Given the description of an element on the screen output the (x, y) to click on. 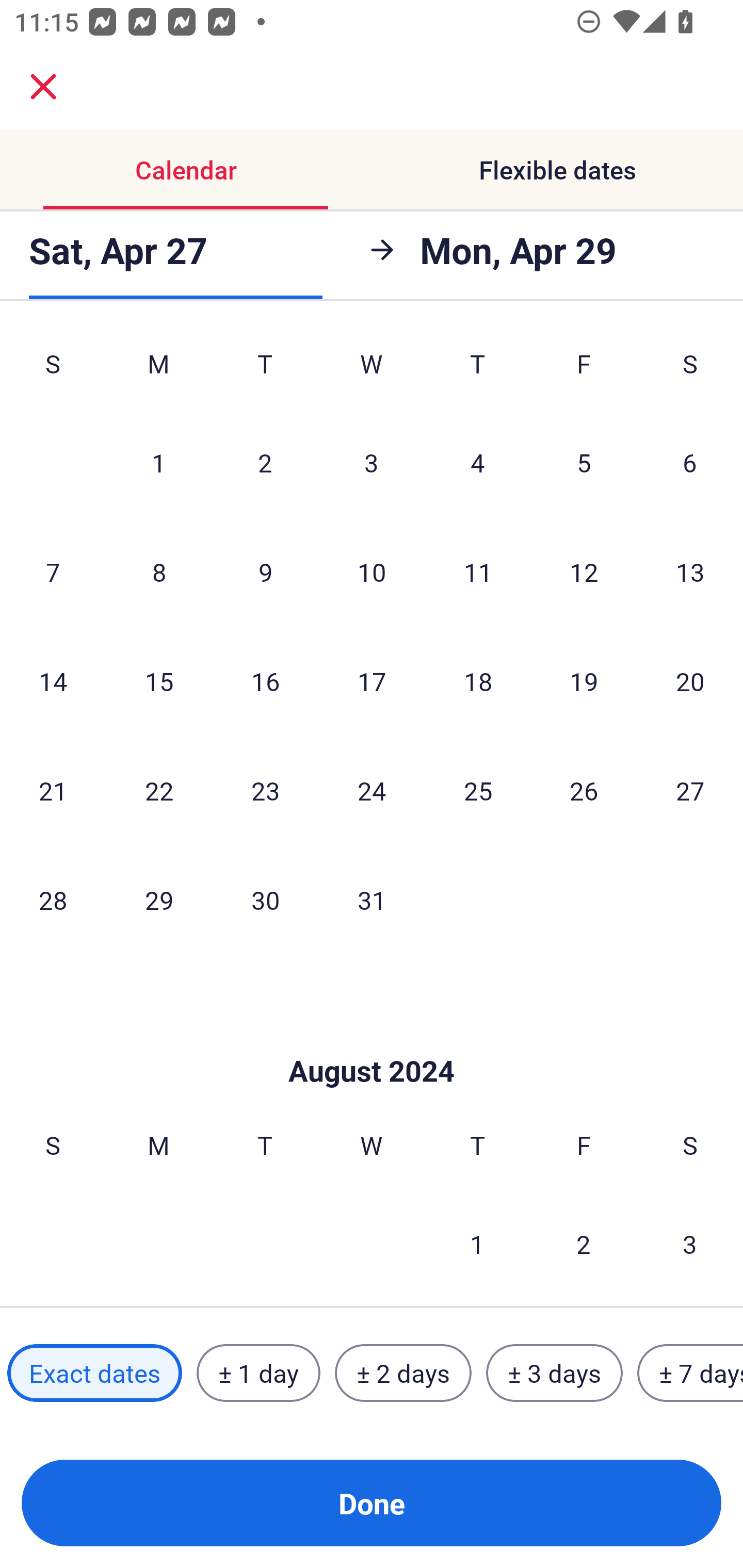
close. (43, 86)
Flexible dates (557, 170)
1 Monday, July 1, 2024 (158, 462)
2 Tuesday, July 2, 2024 (264, 462)
3 Wednesday, July 3, 2024 (371, 462)
4 Thursday, July 4, 2024 (477, 462)
5 Friday, July 5, 2024 (583, 462)
6 Saturday, July 6, 2024 (689, 462)
7 Sunday, July 7, 2024 (53, 571)
8 Monday, July 8, 2024 (159, 571)
9 Tuesday, July 9, 2024 (265, 571)
10 Wednesday, July 10, 2024 (371, 571)
11 Thursday, July 11, 2024 (477, 571)
12 Friday, July 12, 2024 (584, 571)
13 Saturday, July 13, 2024 (690, 571)
14 Sunday, July 14, 2024 (53, 680)
15 Monday, July 15, 2024 (159, 680)
16 Tuesday, July 16, 2024 (265, 680)
17 Wednesday, July 17, 2024 (371, 680)
18 Thursday, July 18, 2024 (477, 680)
19 Friday, July 19, 2024 (584, 680)
20 Saturday, July 20, 2024 (690, 680)
21 Sunday, July 21, 2024 (53, 789)
22 Monday, July 22, 2024 (159, 789)
23 Tuesday, July 23, 2024 (265, 789)
24 Wednesday, July 24, 2024 (371, 789)
25 Thursday, July 25, 2024 (477, 789)
26 Friday, July 26, 2024 (584, 789)
27 Saturday, July 27, 2024 (690, 789)
28 Sunday, July 28, 2024 (53, 899)
29 Monday, July 29, 2024 (159, 899)
30 Tuesday, July 30, 2024 (265, 899)
31 Wednesday, July 31, 2024 (371, 899)
Skip to Done (371, 1040)
1 Thursday, August 1, 2024 (477, 1243)
2 Friday, August 2, 2024 (583, 1243)
3 Saturday, August 3, 2024 (689, 1243)
Exact dates (94, 1372)
± 1 day (258, 1372)
± 2 days (403, 1372)
± 3 days (553, 1372)
± 7 days (690, 1372)
Done (371, 1502)
